Given the description of an element on the screen output the (x, y) to click on. 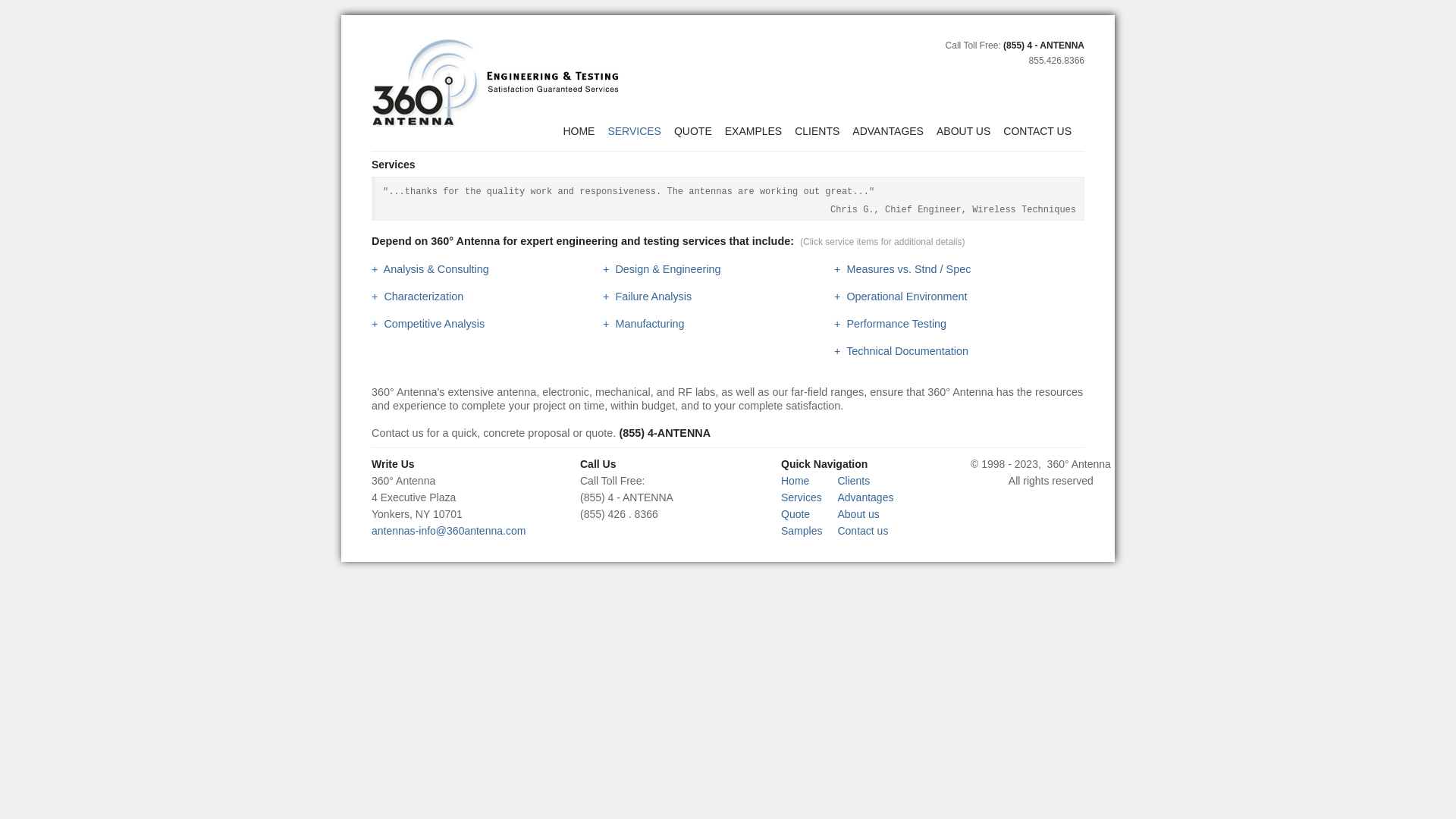
Advantages Element type: text (865, 497)
+  Failure Analysis Element type: text (646, 296)
QUOTE Element type: text (699, 131)
SERVICES Element type: text (640, 131)
Services Element type: text (801, 497)
Samples Element type: text (801, 530)
+  Manufacturing Element type: text (643, 323)
ABOUT US Element type: text (969, 131)
+  Technical Documentation Element type: text (901, 351)
EXAMPLES Element type: text (759, 131)
+  Competitive Analysis Element type: text (427, 323)
CLIENTS Element type: text (823, 131)
+  Measures vs. Stnd / Spec Element type: text (902, 269)
+  Performance Testing Element type: text (890, 323)
Clients Element type: text (853, 480)
Back Home Element type: hover (496, 81)
ADVANTAGES Element type: text (894, 131)
antennas-info@360antenna.com Element type: text (448, 530)
Contact us Element type: text (862, 530)
+  Characterization Element type: text (417, 296)
About us Element type: text (857, 514)
HOME Element type: text (584, 131)
+  Analysis & Consulting Element type: text (430, 269)
+  Design & Engineering Element type: text (661, 269)
CONTACT US Element type: text (1043, 131)
Home Element type: text (795, 480)
+  Operational Environment Element type: text (900, 296)
Quote Element type: text (795, 514)
